Given the description of an element on the screen output the (x, y) to click on. 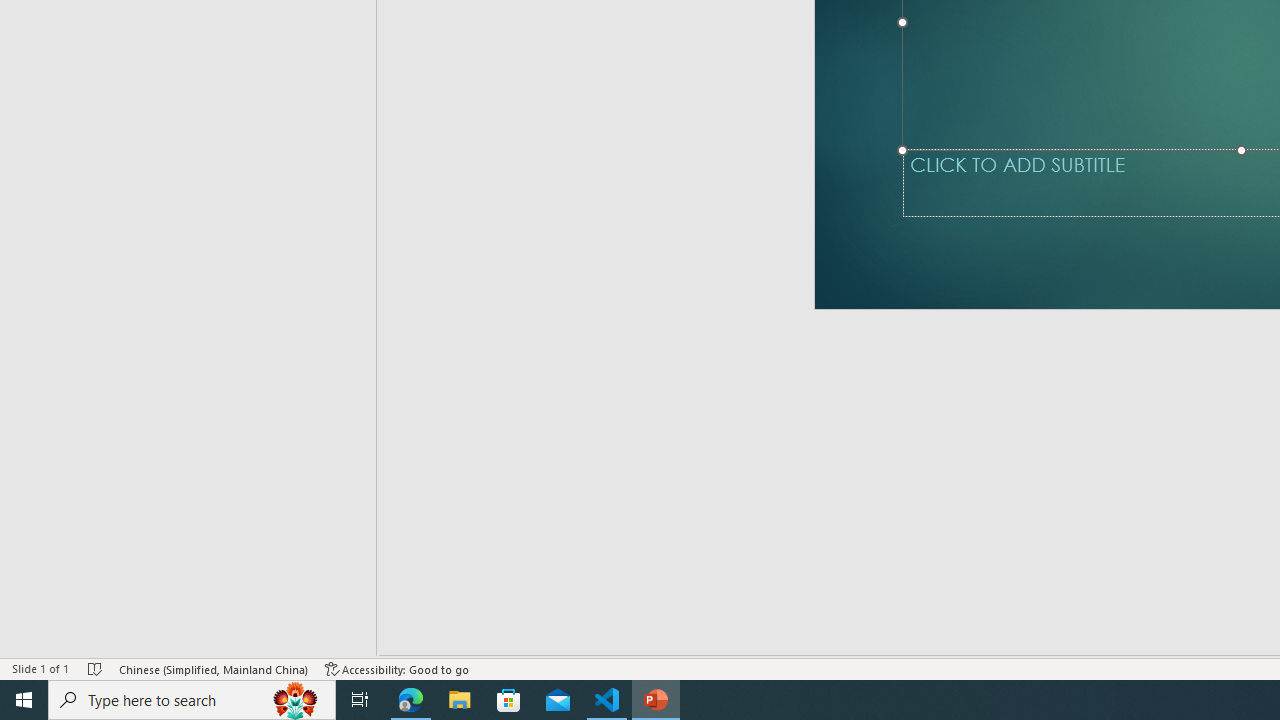
Accessibility Checker Accessibility: Good to go (397, 668)
